Given the description of an element on the screen output the (x, y) to click on. 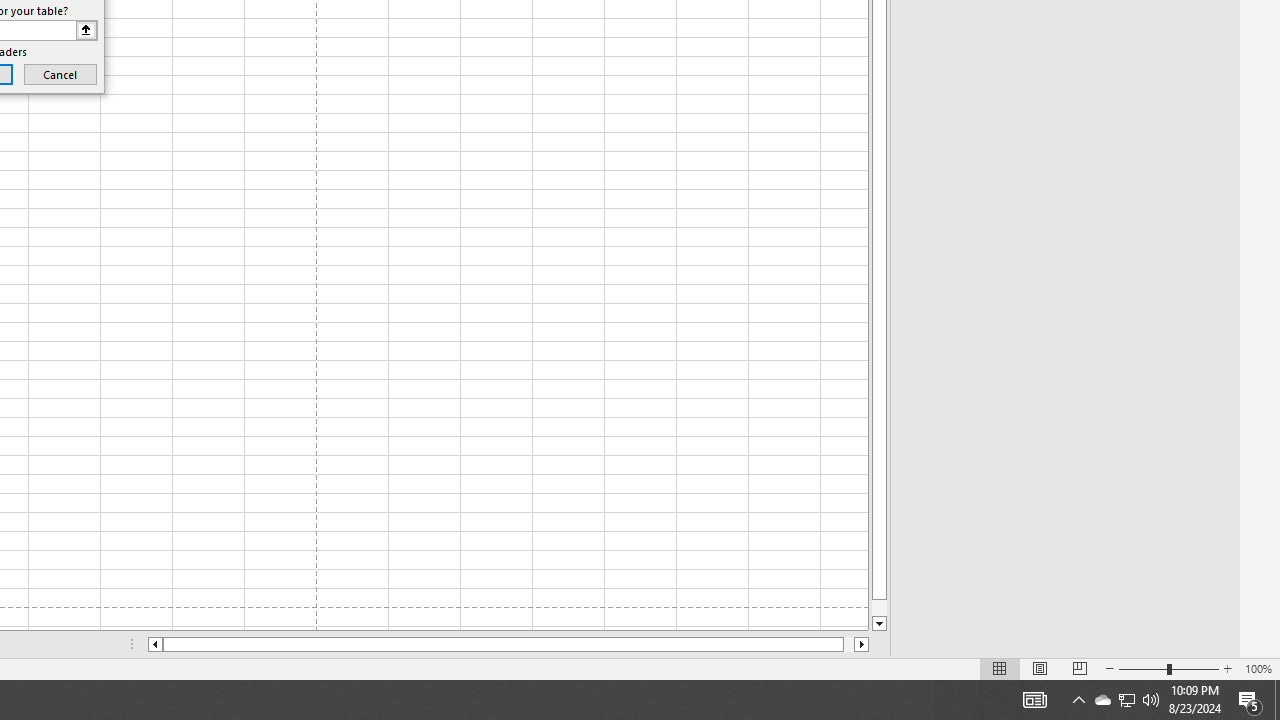
Zoom (1168, 668)
Page down (879, 607)
Page Break Preview (1079, 668)
Column right (861, 644)
Page Layout (1039, 668)
Normal (1000, 668)
Class: NetUIScrollBar (507, 644)
Zoom In (1227, 668)
Page right (848, 644)
Column left (153, 644)
Zoom Out (1142, 668)
Line down (879, 624)
